Given the description of an element on the screen output the (x, y) to click on. 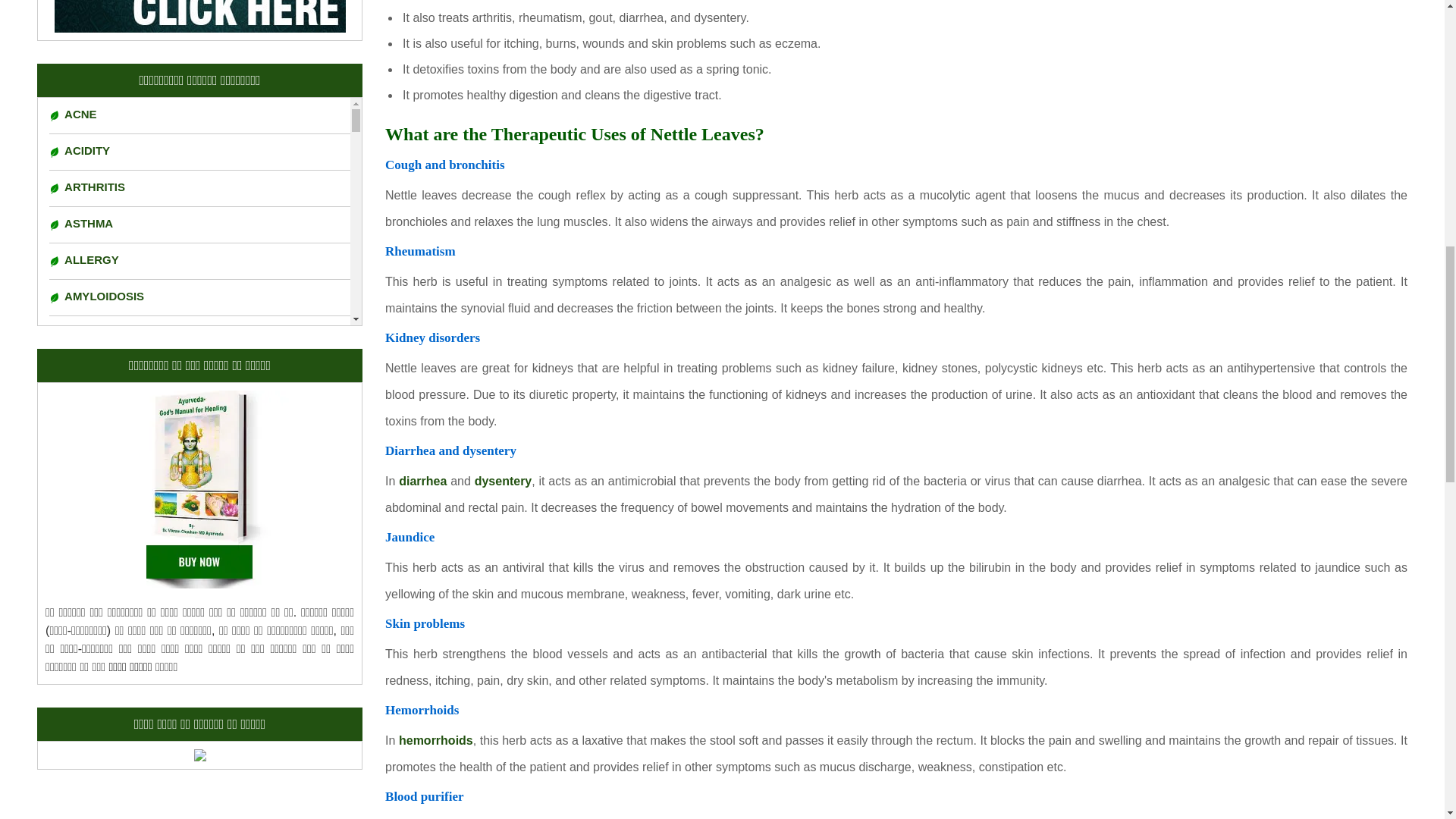
hemorrhoids (435, 739)
dysentery (503, 481)
diarrhea (422, 481)
